Given the description of an element on the screen output the (x, y) to click on. 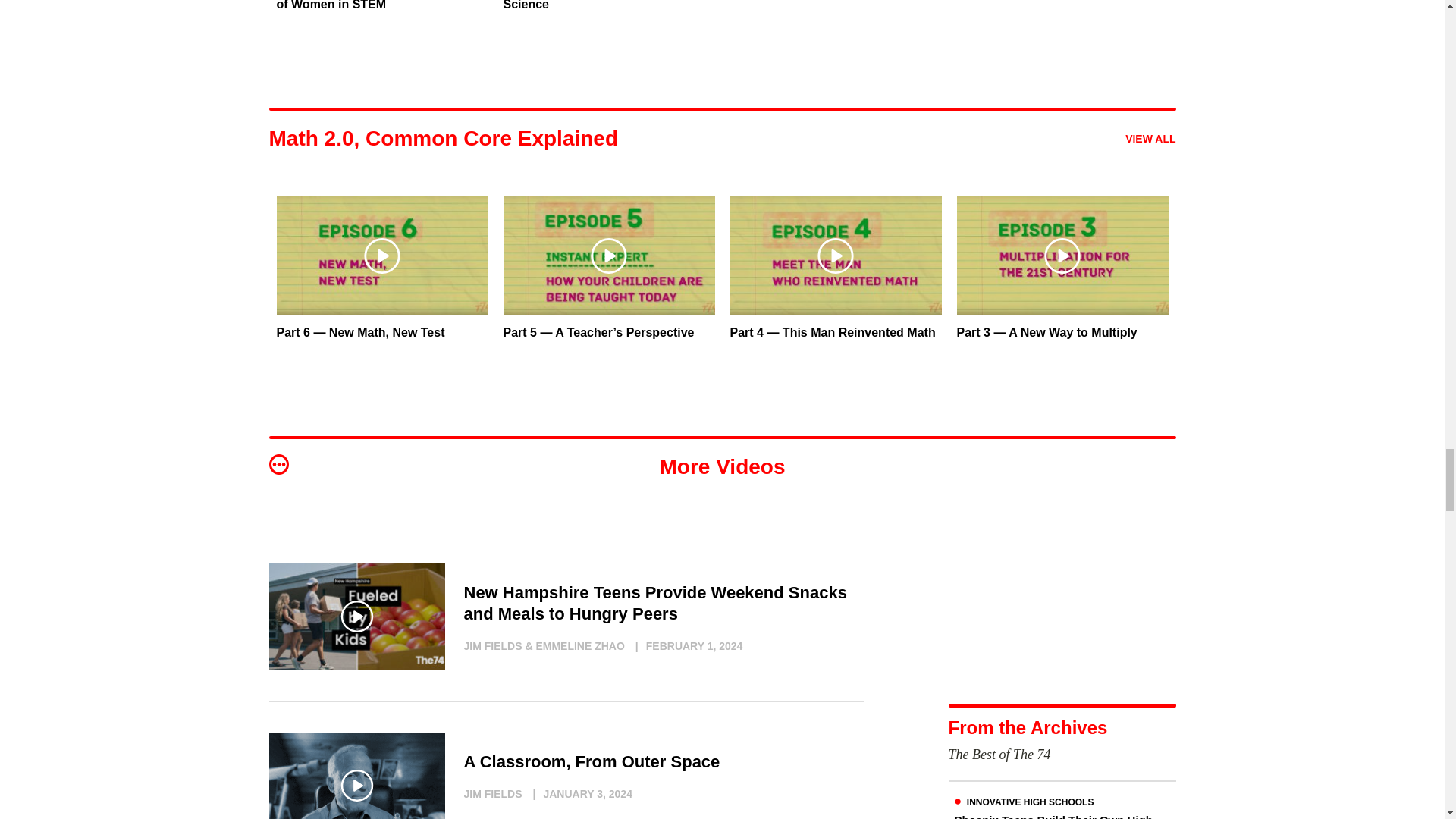
February 1, 2024 (684, 646)
January 3, 2024 (578, 793)
